Given the description of an element on the screen output the (x, y) to click on. 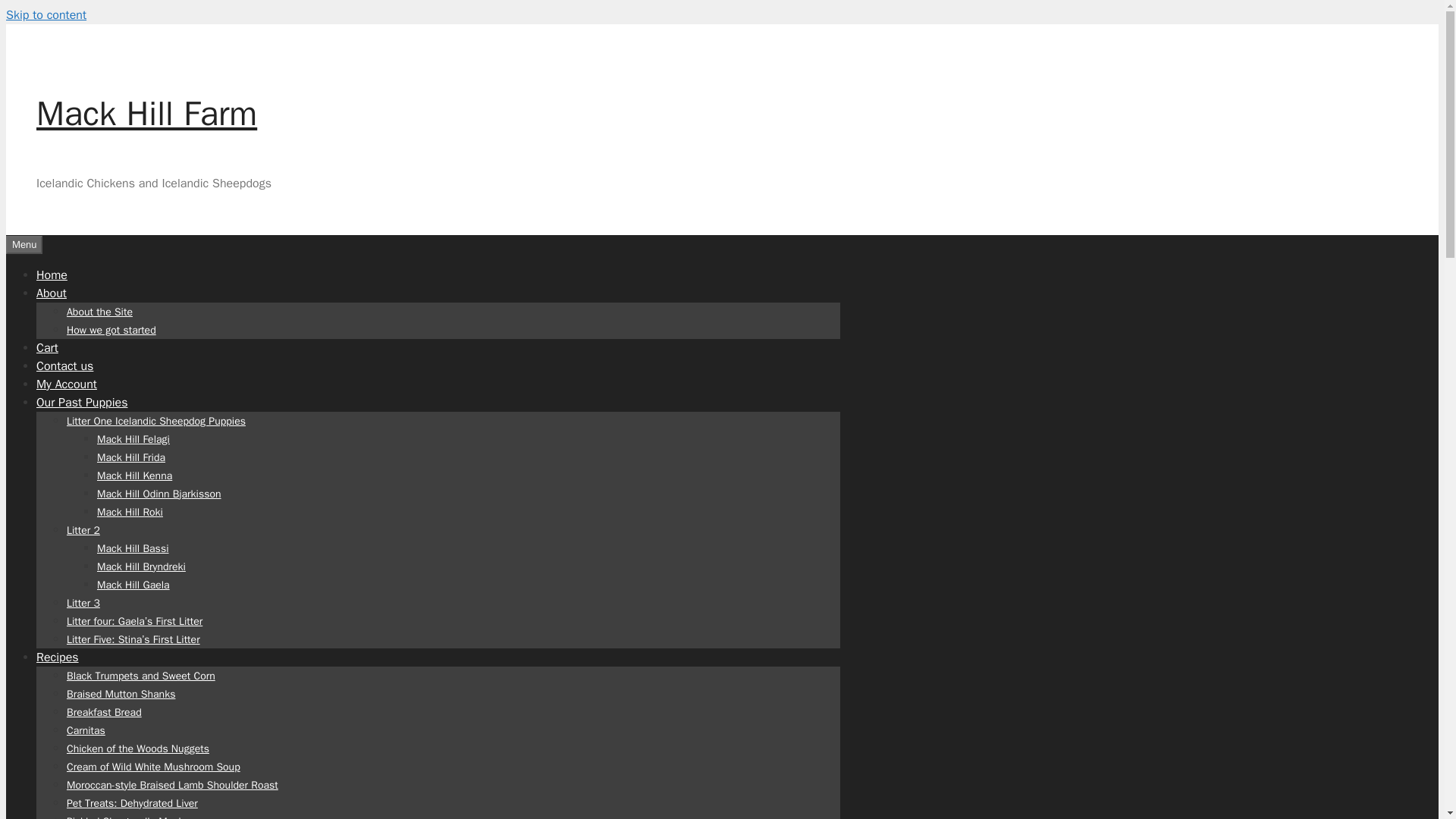
Skip to content (45, 14)
Litter One Icelandic Sheepdog Puppies (156, 420)
Mack Hill Farm (146, 113)
Litter 2 (83, 529)
Skip to content (45, 14)
Breakfast Bread (103, 711)
Cart (47, 346)
Moroccan-style Braised Lamb Shoulder Roast (172, 784)
Mack Hill Gaela (133, 584)
Mack Hill Felagi (133, 438)
Menu (23, 244)
Mack Hill Odinn Bjarkisson (159, 492)
About the Site (99, 310)
How we got started (110, 328)
Chicken of the Woods Nuggets (137, 748)
